Given the description of an element on the screen output the (x, y) to click on. 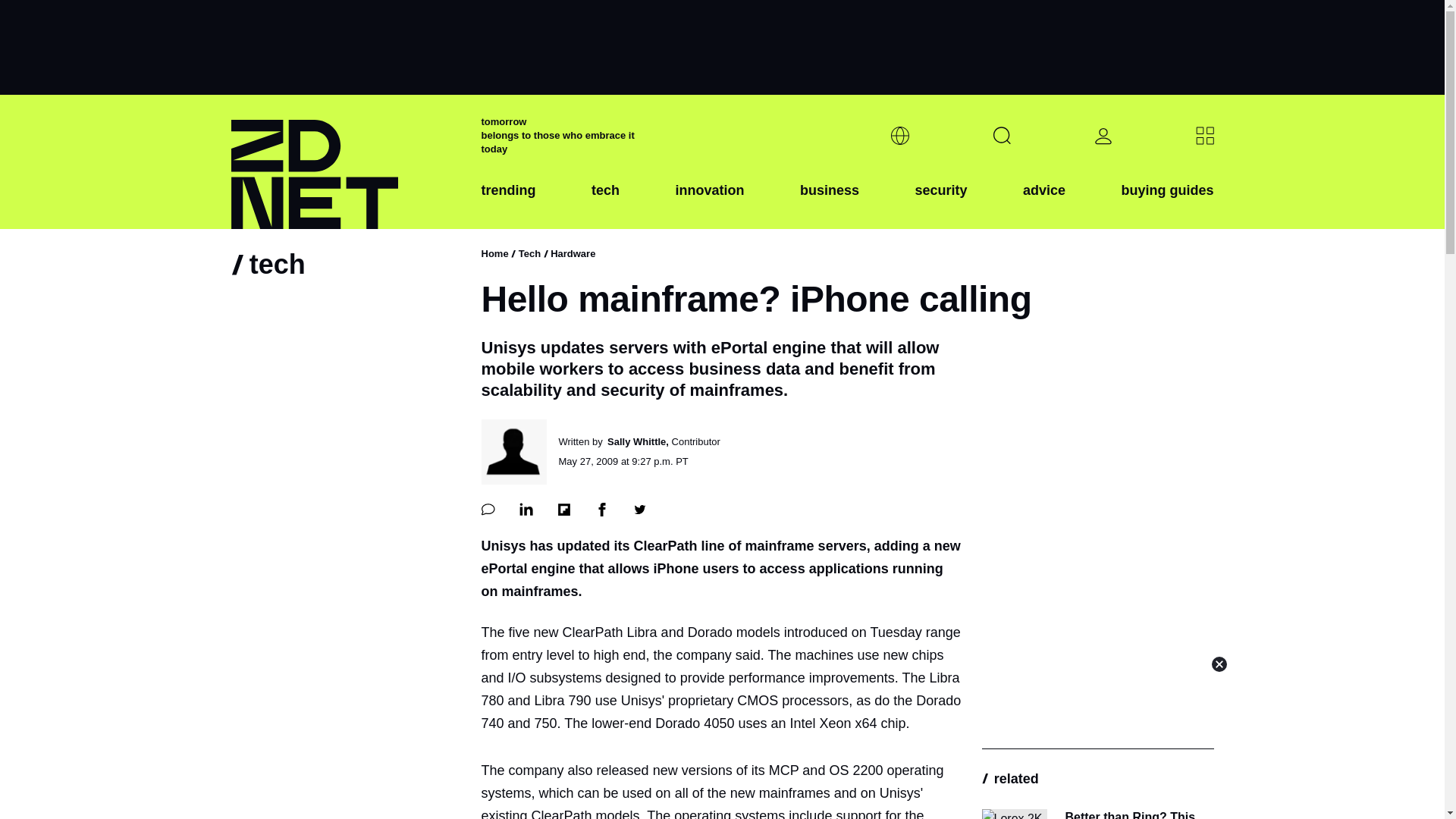
trending (507, 202)
ZDNET (346, 162)
